Given the description of an element on the screen output the (x, y) to click on. 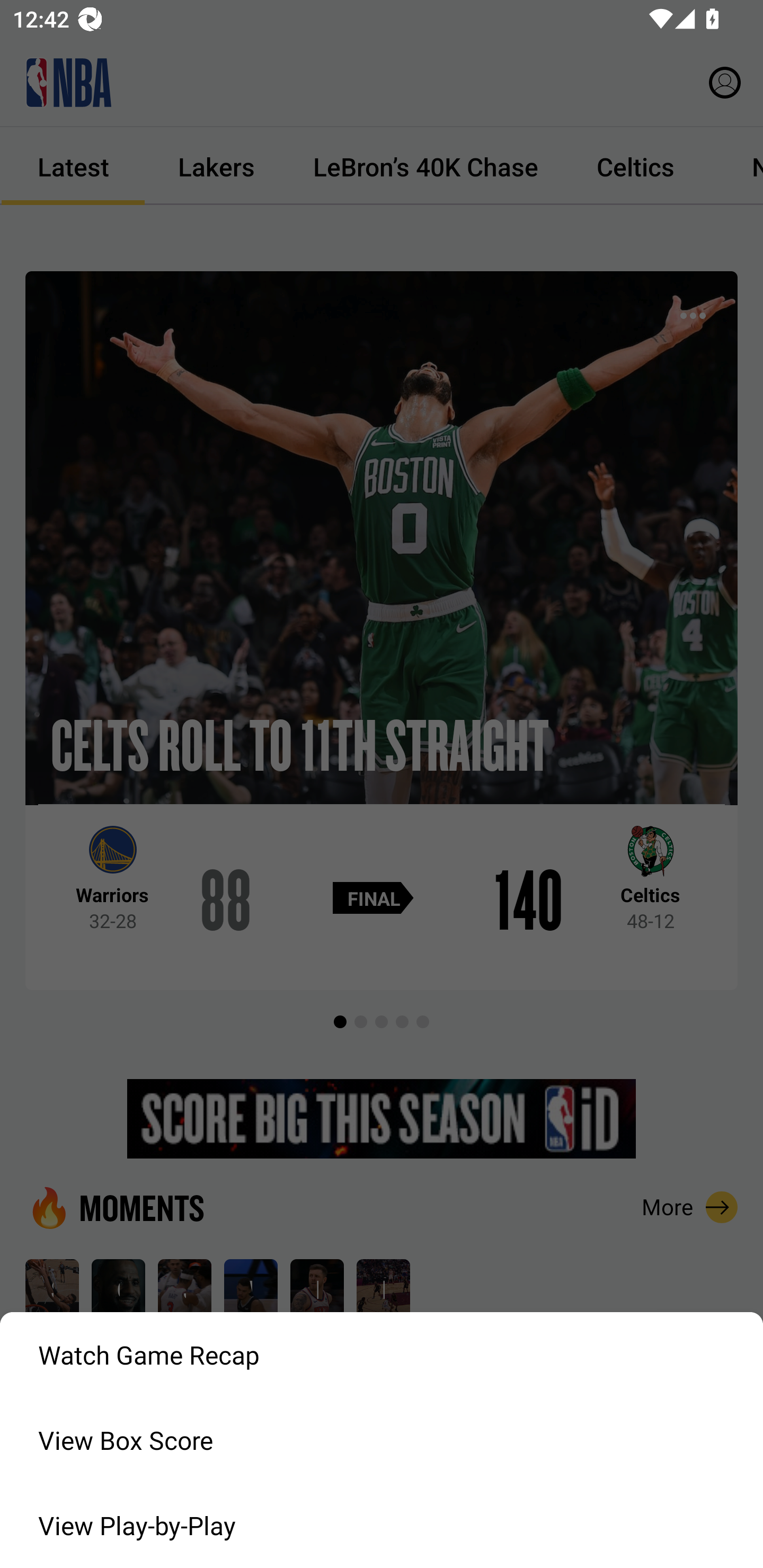
Watch Game Recap (381, 1354)
View Box Score (381, 1440)
View Play-by-Play (381, 1525)
